Given the description of an element on the screen output the (x, y) to click on. 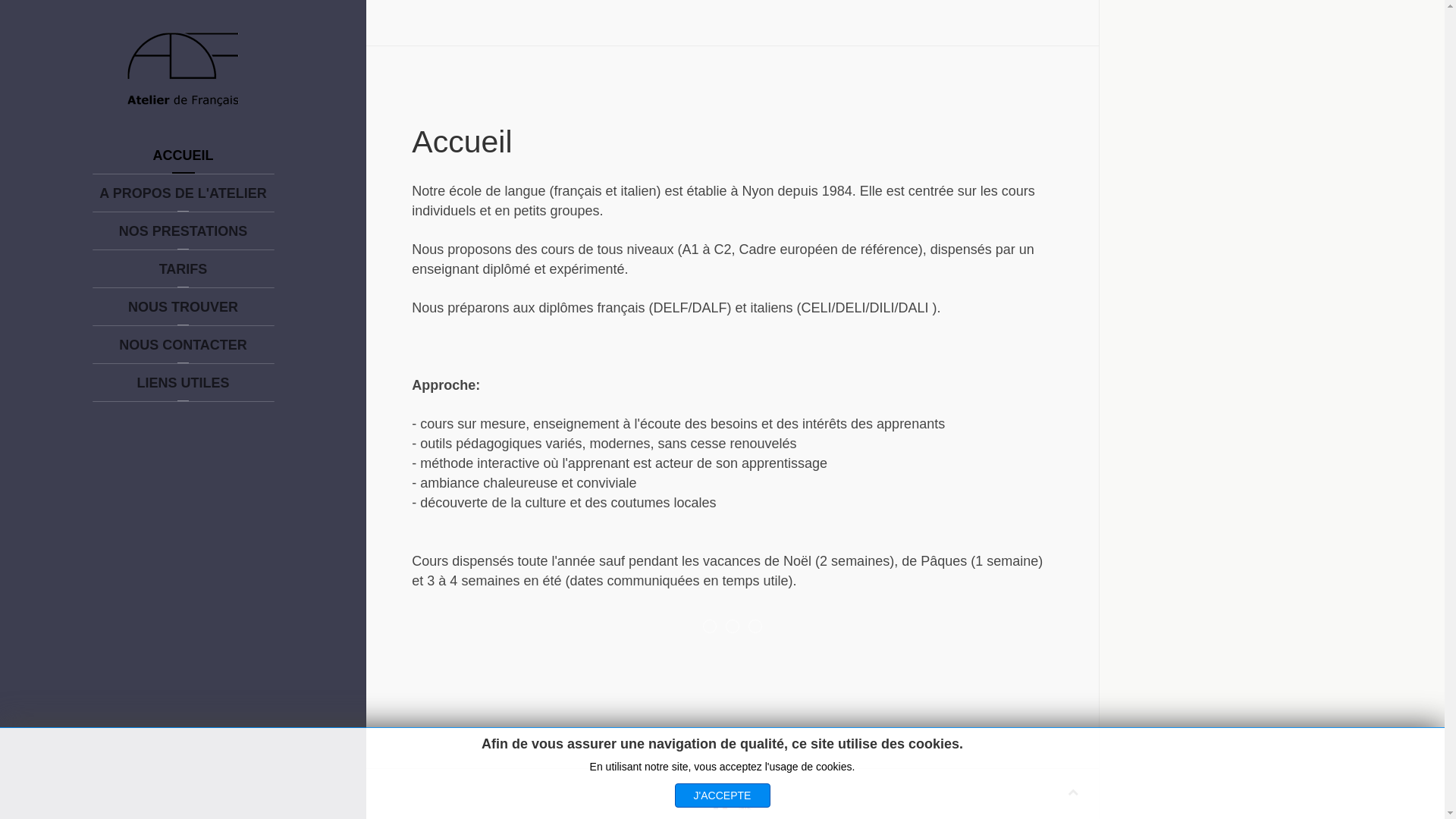
NOUS TROUVER Element type: text (183, 307)
NOUS CONTACTER Element type: text (183, 345)
NOS PRESTATIONS Element type: text (183, 231)
LIENS UTILES Element type: text (183, 382)
ACCUEIL Element type: text (183, 155)
Tableau noir Element type: text (709, 626)
A PROPOS DE L'ATELIER Element type: text (183, 193)
outils Element type: text (755, 626)
English (UK) Element type: hover (745, 804)
TARIFS Element type: text (183, 269)
